Given the description of an element on the screen output the (x, y) to click on. 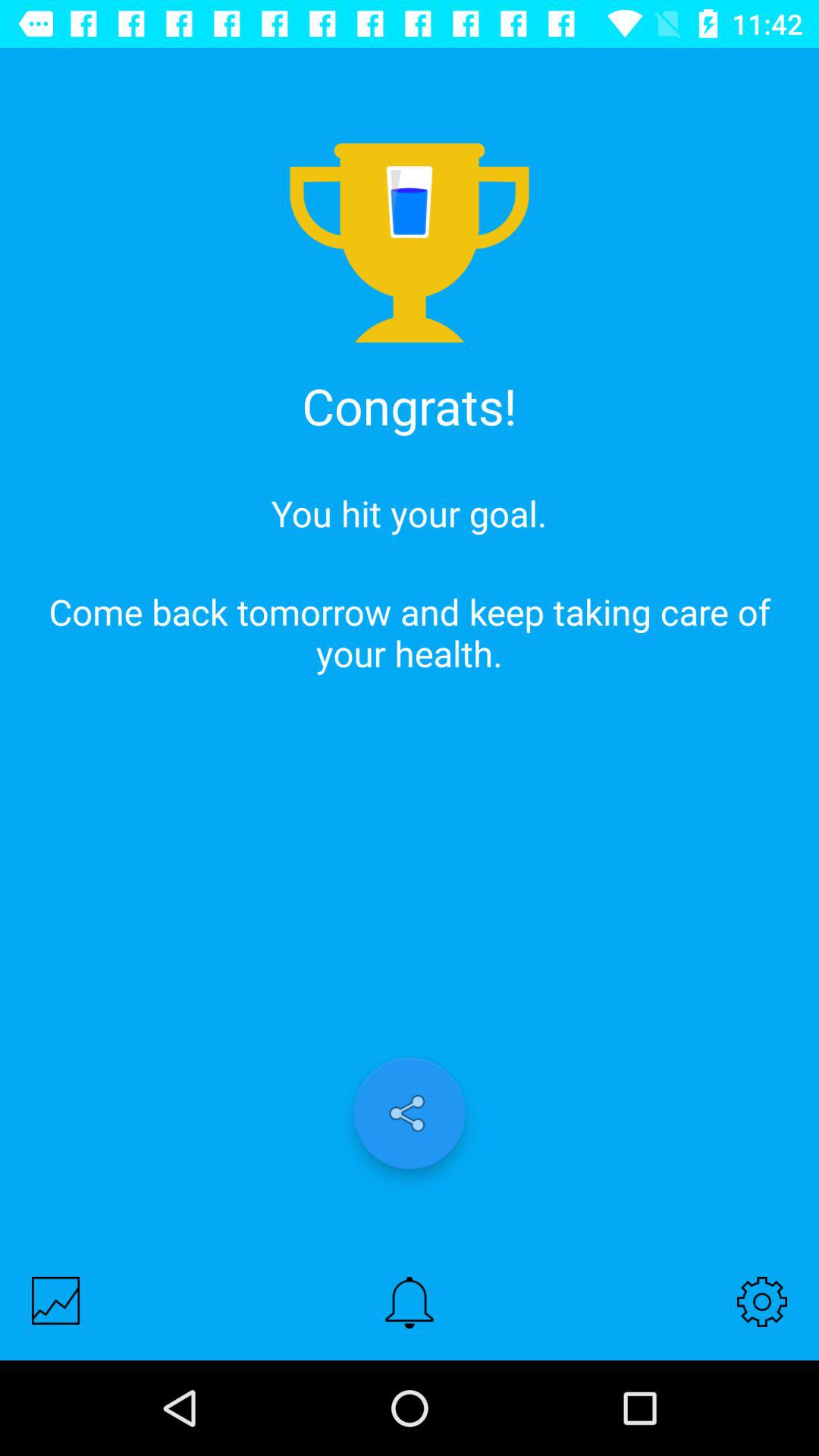
good bye (55, 1300)
